Given the description of an element on the screen output the (x, y) to click on. 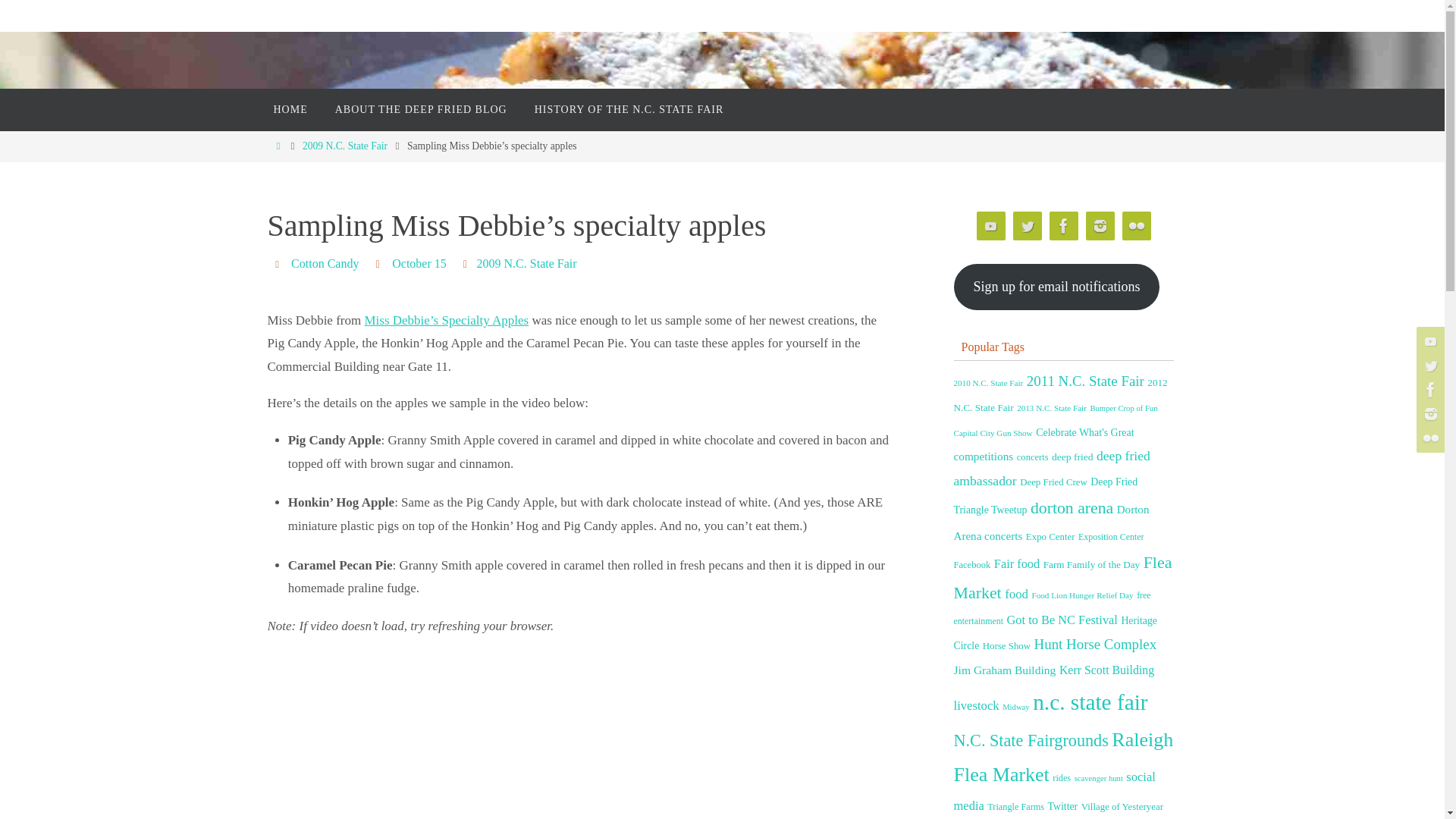
HOME (289, 109)
2010 N.C. State Fair (988, 383)
Author  (278, 263)
Date (378, 263)
Cotton Candy (324, 264)
ABOUT THE DEEP FRIED BLOG (421, 109)
October 15 (418, 264)
2011 N.C. State Fair (1085, 381)
2009 N.C. State Fair (344, 145)
2012 N.C. State Fair (1060, 395)
HISTORY OF THE N.C. STATE FAIR (629, 109)
Sign up for email notifications (1056, 286)
Categories (467, 263)
Home (277, 145)
View all posts by Cotton Candy (324, 264)
